Given the description of an element on the screen output the (x, y) to click on. 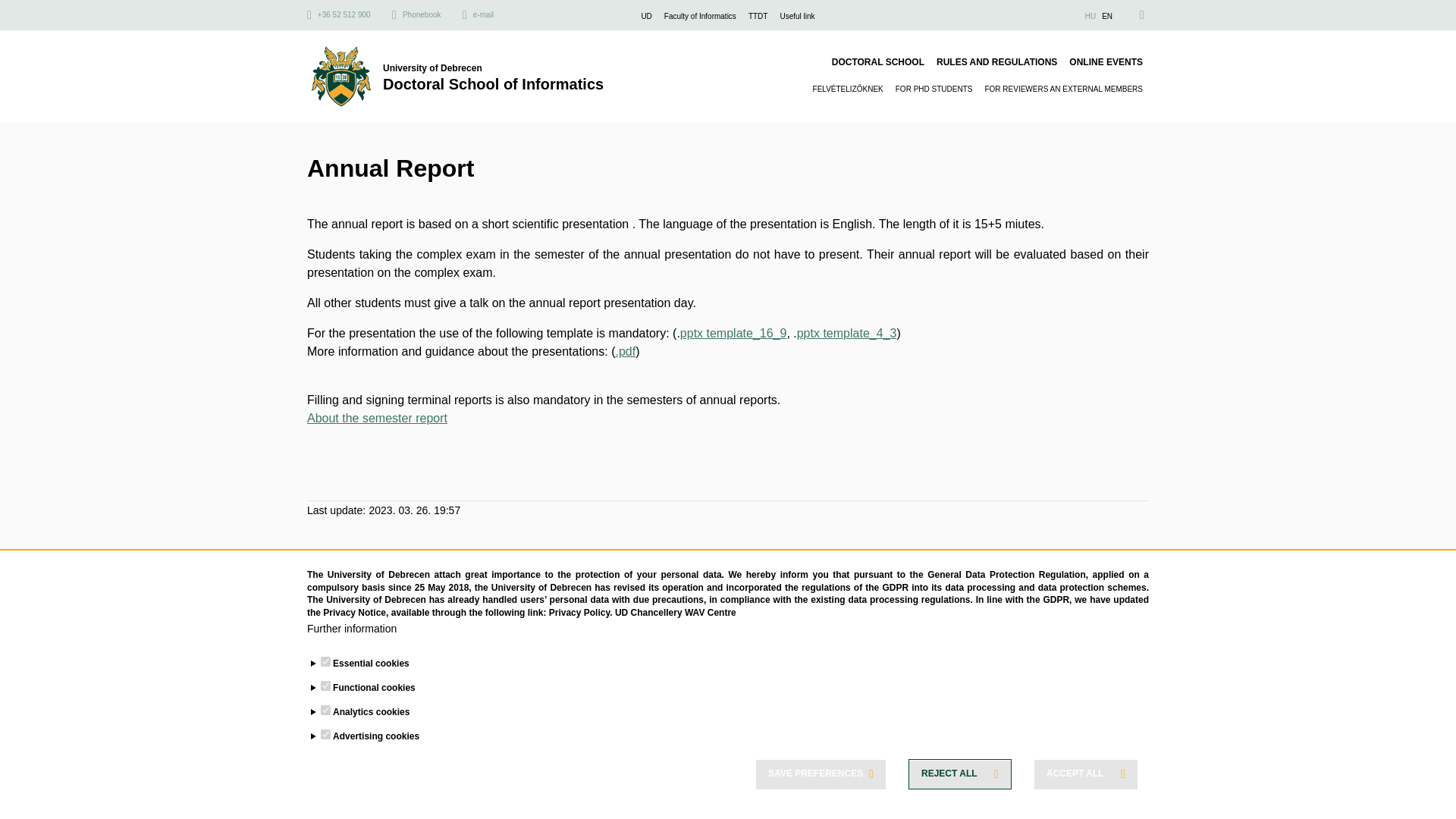
e-mail (478, 15)
Doctoral School of Informatics (493, 84)
essential (325, 661)
TTDT (758, 16)
EN (1107, 16)
HU (1090, 16)
University of Debrecen (493, 67)
UD (645, 16)
RULES AND REGULATIONS (996, 62)
ONLINE EVENTS (1105, 62)
functional (325, 685)
Home (493, 84)
advertising (325, 734)
Useful link (795, 16)
